Given the description of an element on the screen output the (x, y) to click on. 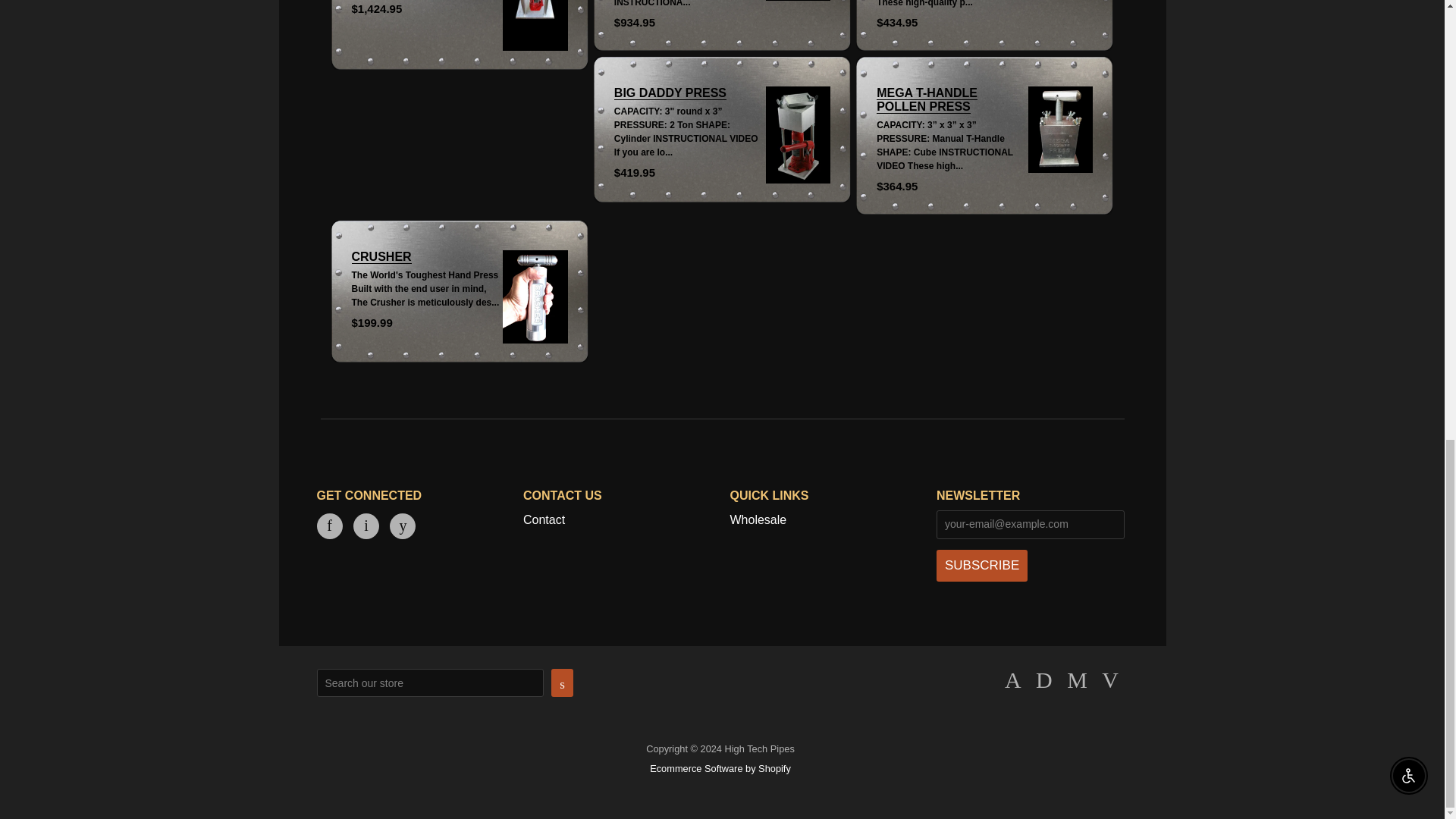
Instagram (365, 526)
YouTube (402, 526)
Subscribe (981, 565)
Facebook (329, 526)
High Tech Pipes on Instagram (365, 526)
Ecommerce Software by Shopify (719, 767)
High Tech Pipes on Facebook (329, 526)
Wholesale (757, 519)
Contact (543, 519)
High Tech Pipes on YouTube (402, 526)
Subscribe (981, 565)
